Given the description of an element on the screen output the (x, y) to click on. 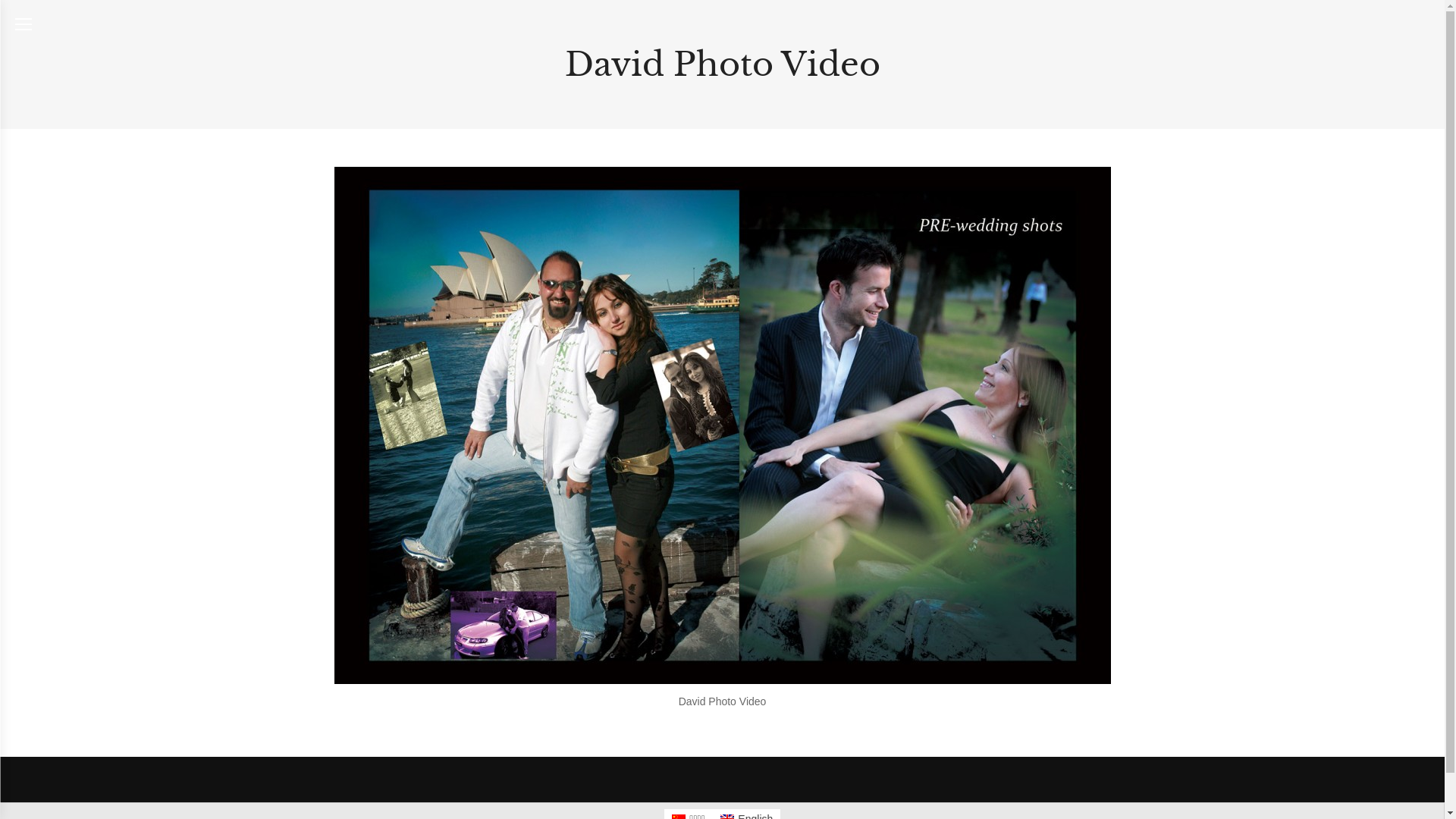
David Photo Video Element type: hover (721, 425)
